Given the description of an element on the screen output the (x, y) to click on. 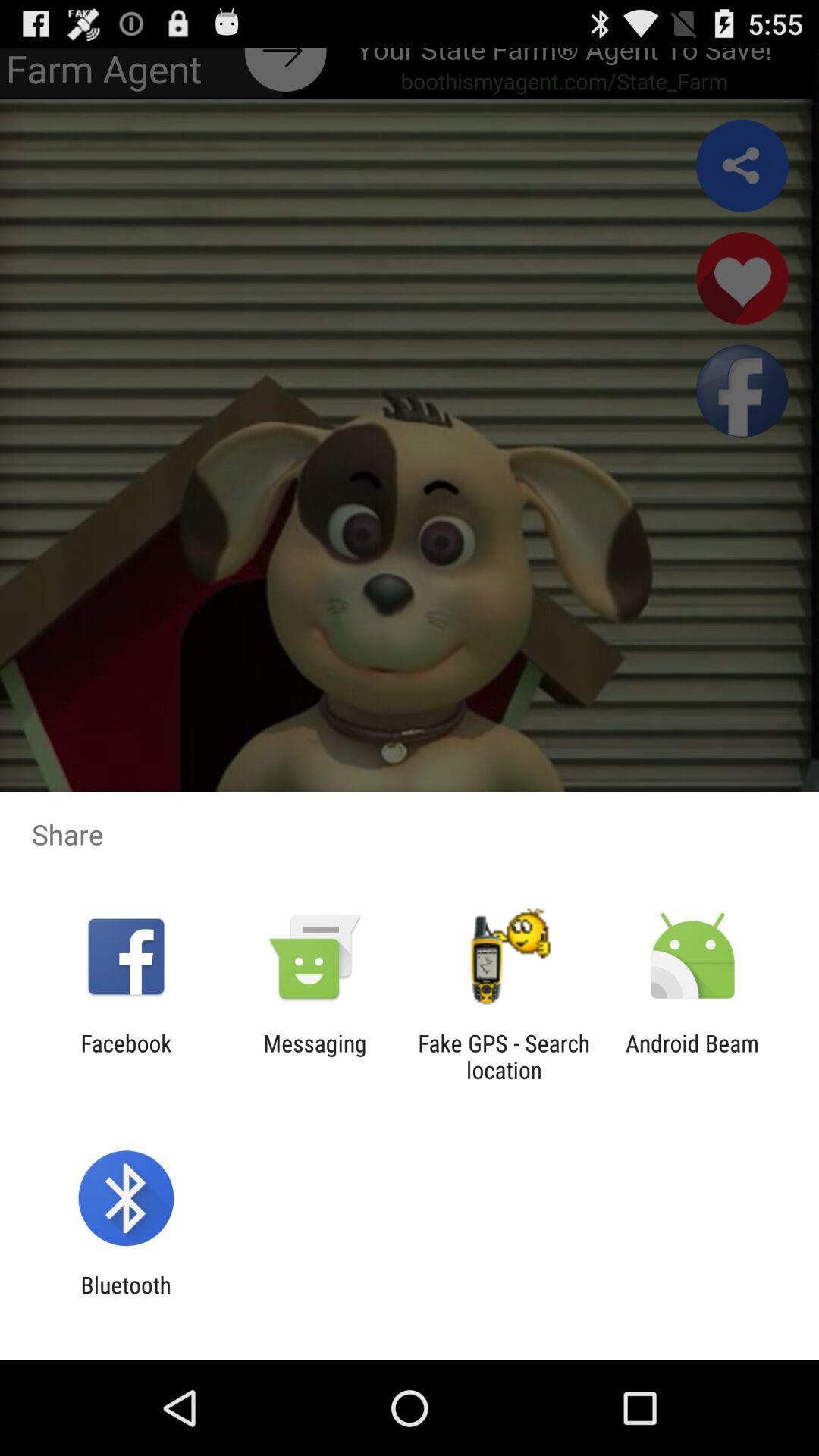
select android beam at the bottom right corner (692, 1056)
